Given the description of an element on the screen output the (x, y) to click on. 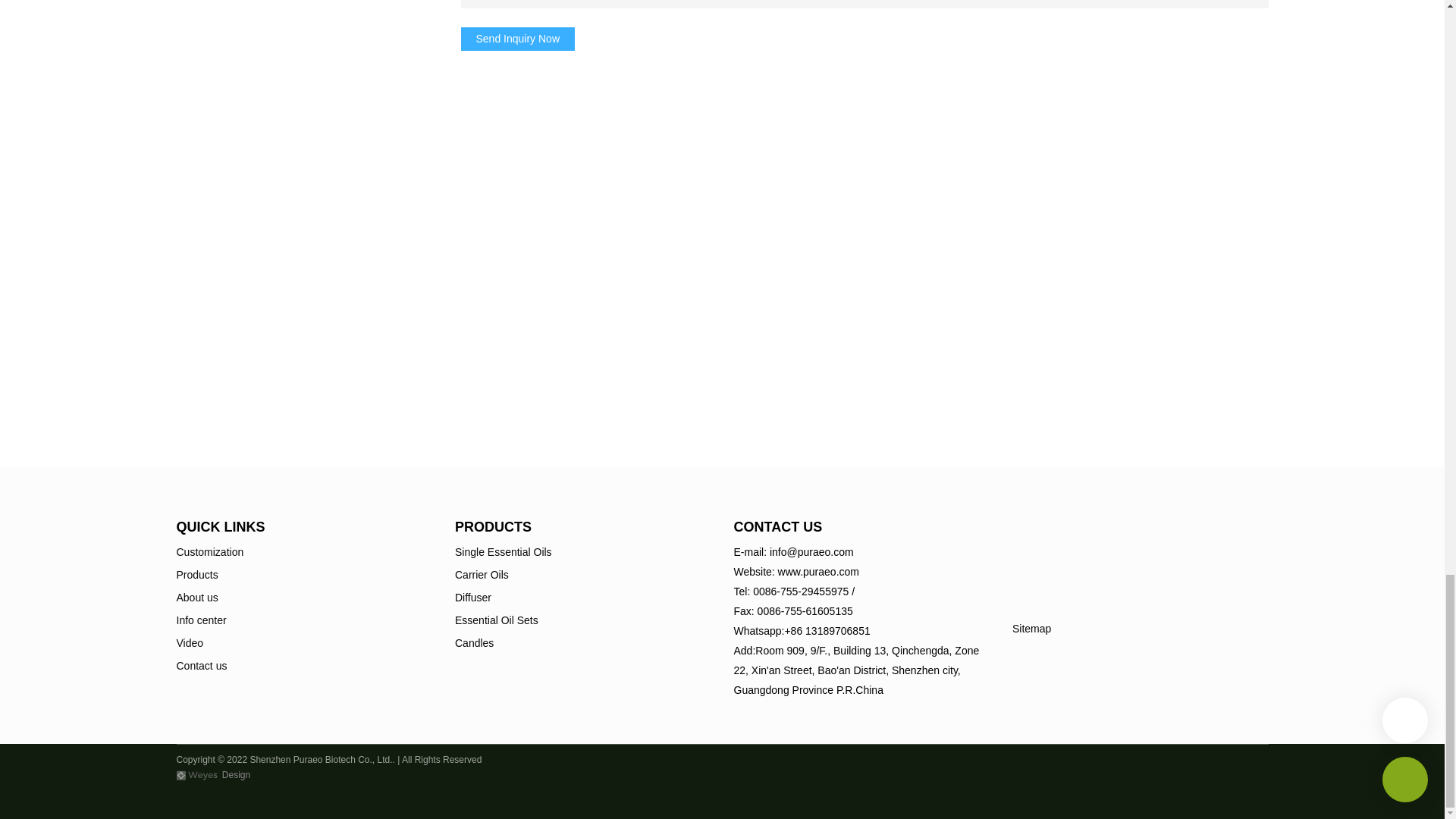
Send Inquiry Now (518, 38)
